Given the description of an element on the screen output the (x, y) to click on. 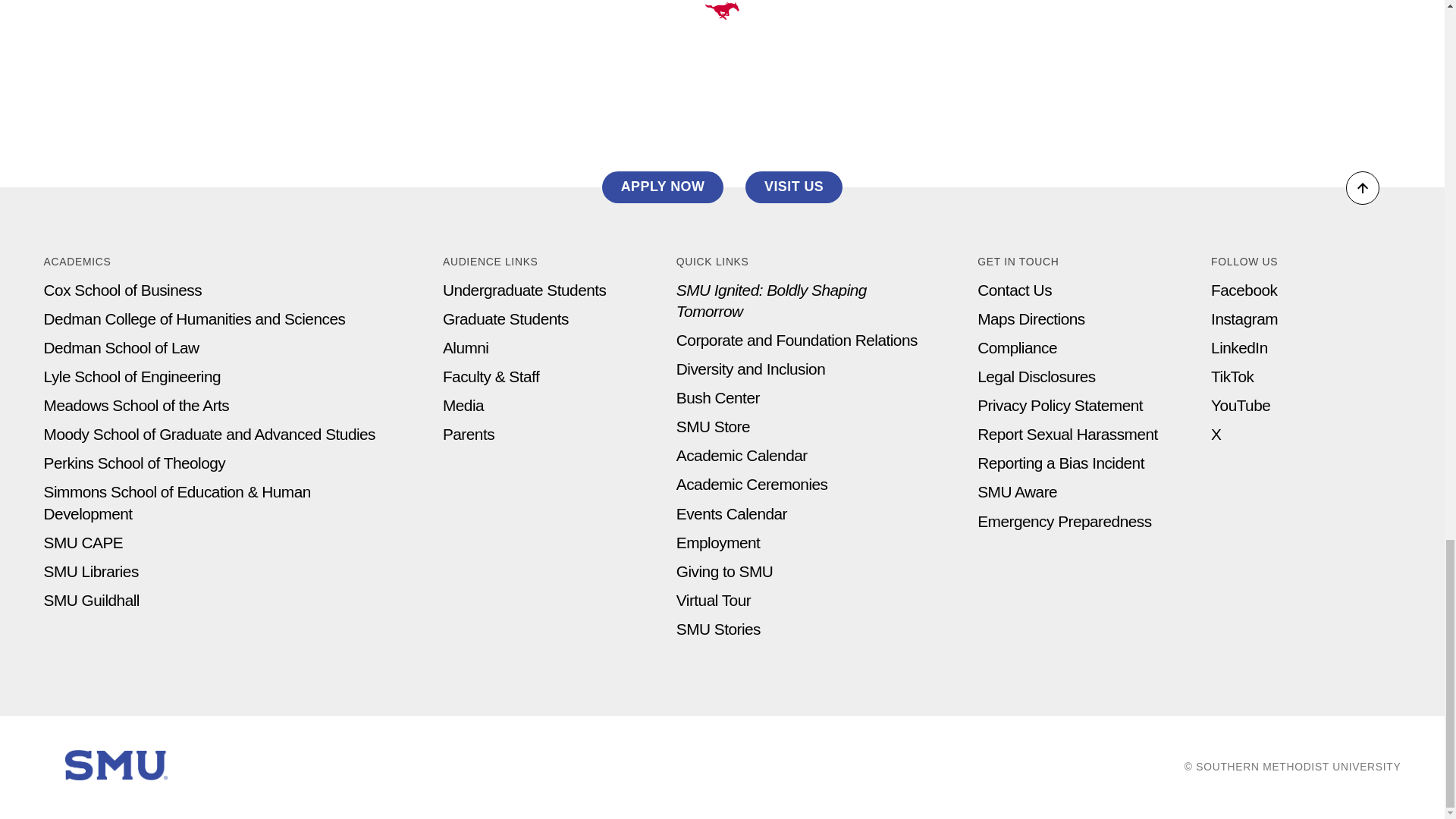
Perkins School of Theology (134, 462)
SMU Libraries (90, 570)
Undergraduate Students (524, 289)
Media (462, 405)
Alumni (465, 347)
Parents (468, 434)
Corporate and Foundation Relations (797, 339)
Moody School of Graduate and Advanced Studies (209, 434)
Dedman College of Humanities and Sciences (194, 318)
Meadows School of the Arts (136, 405)
